Given the description of an element on the screen output the (x, y) to click on. 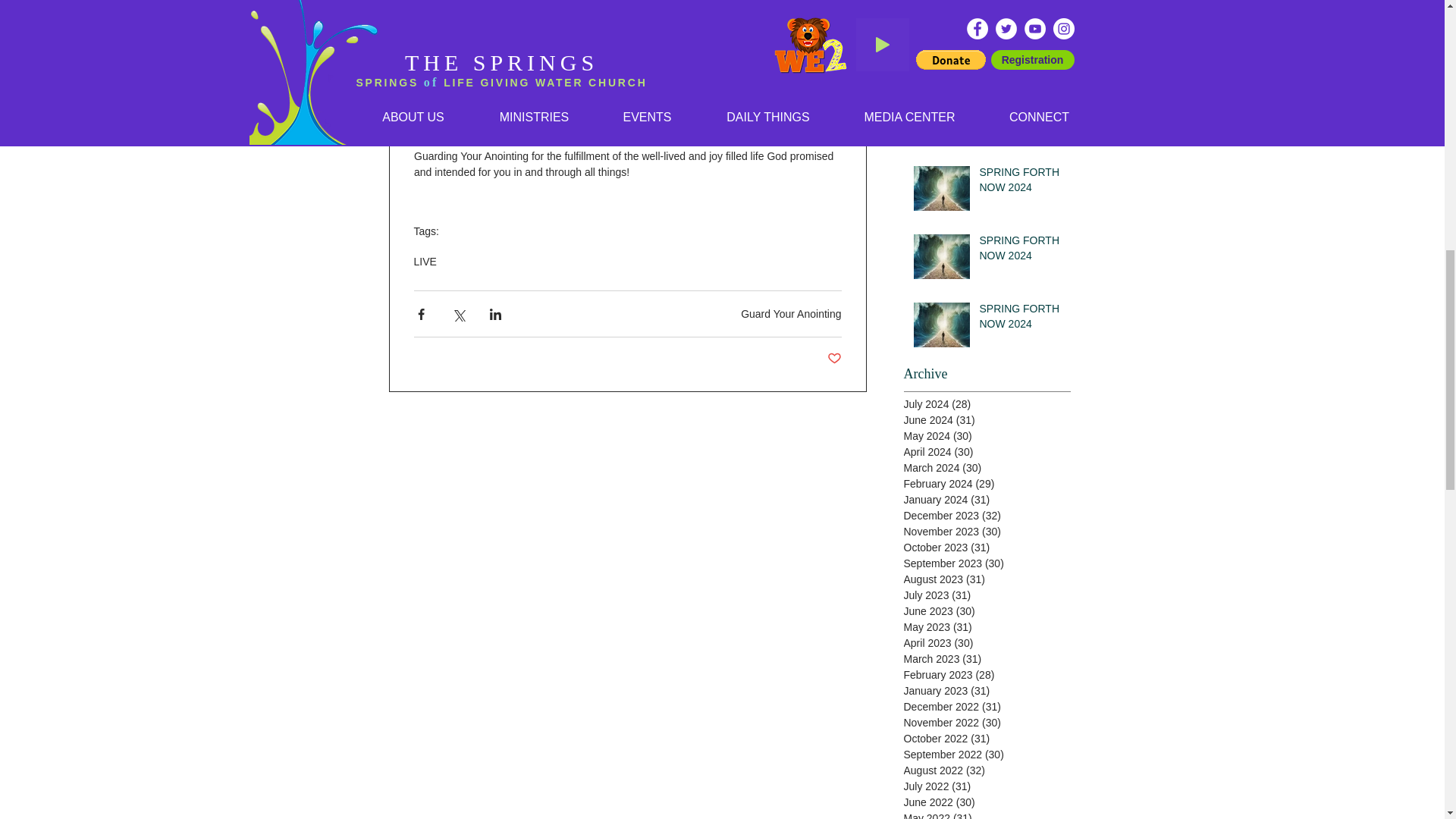
LIVE (424, 261)
Guard Your Anointing (791, 313)
Post not marked as liked (834, 358)
